Given the description of an element on the screen output the (x, y) to click on. 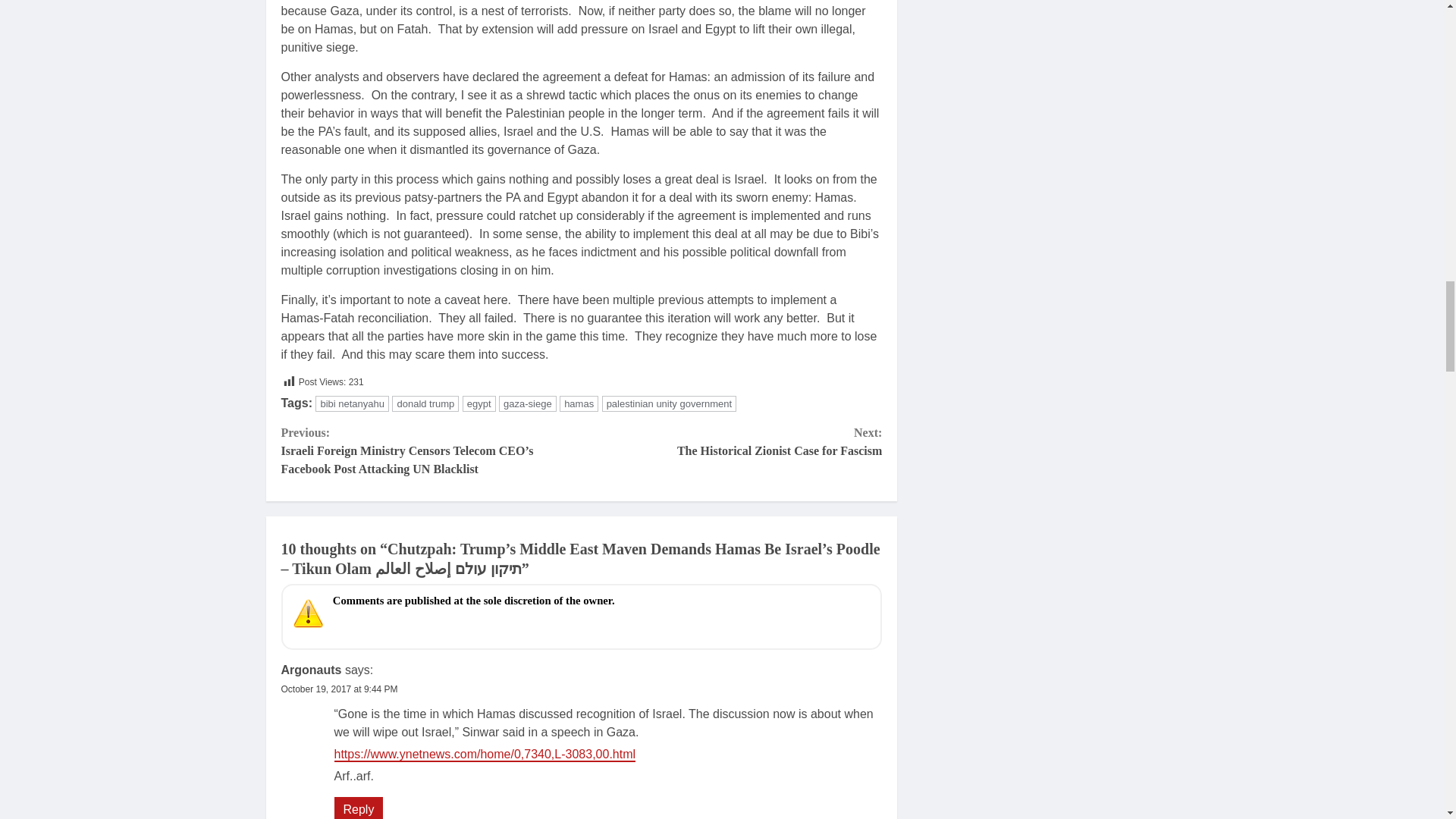
egypt (479, 403)
palestinian unity government (669, 403)
Reply (357, 807)
donald trump (731, 442)
bibi netanyahu (424, 403)
hamas (351, 403)
October 19, 2017 at 9:44 PM (578, 403)
gaza-siege (339, 688)
